Given the description of an element on the screen output the (x, y) to click on. 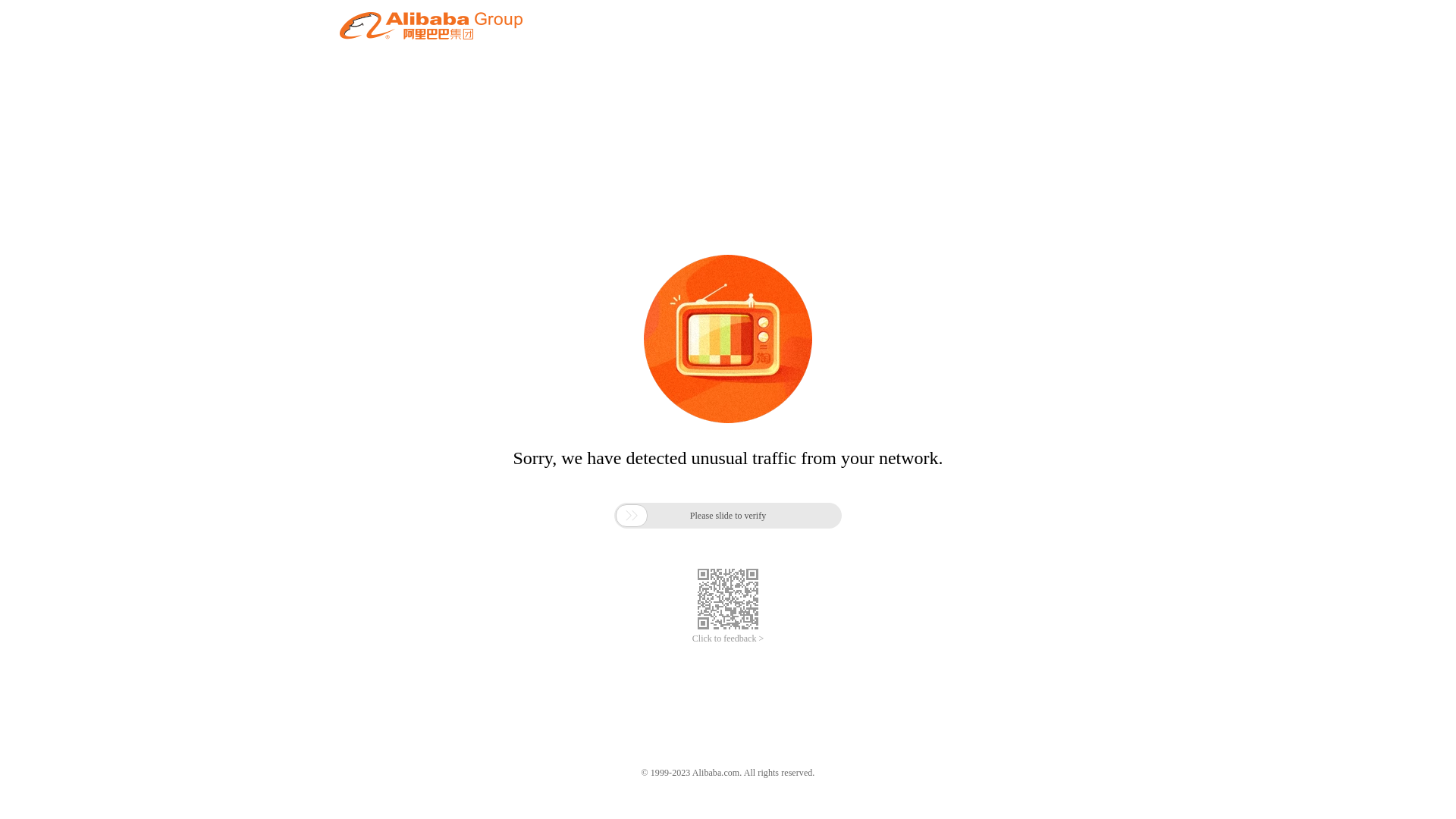
Click to feedback > Element type: text (727, 638)
